Given the description of an element on the screen output the (x, y) to click on. 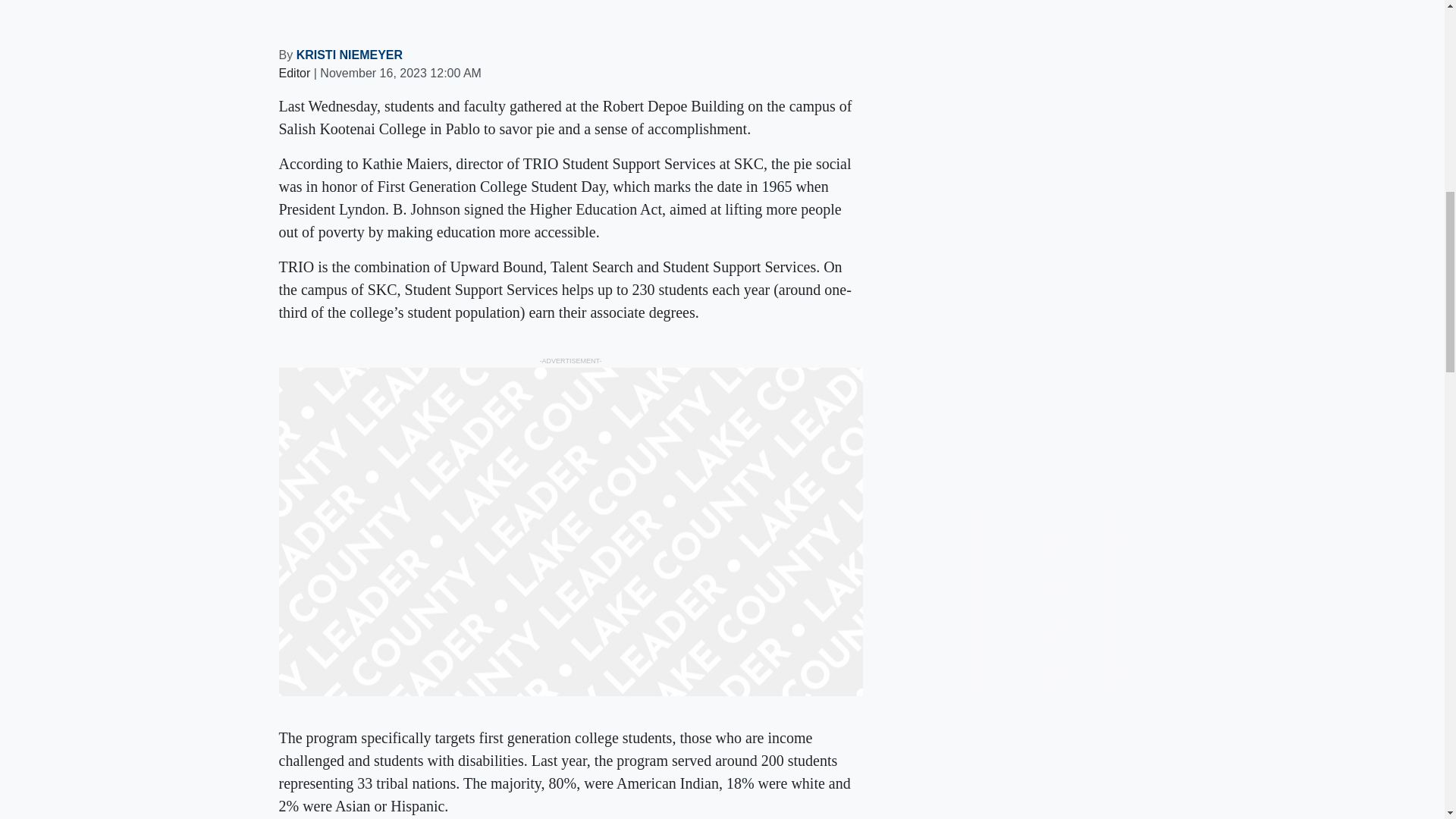
3rd party ad content (1052, 596)
3rd party ad content (1052, 261)
